Given the description of an element on the screen output the (x, y) to click on. 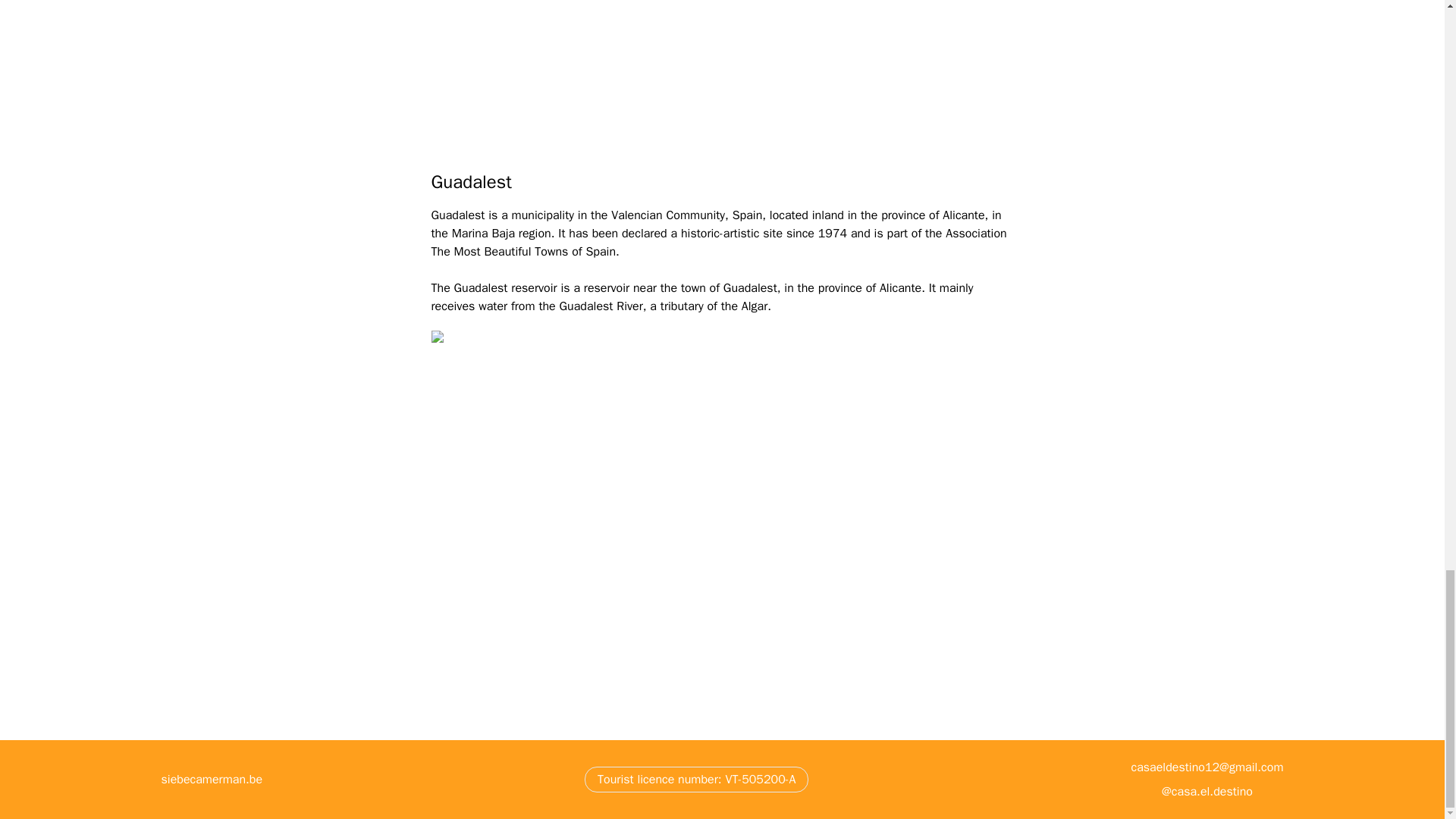
siebecamerman.be (211, 779)
